Given the description of an element on the screen output the (x, y) to click on. 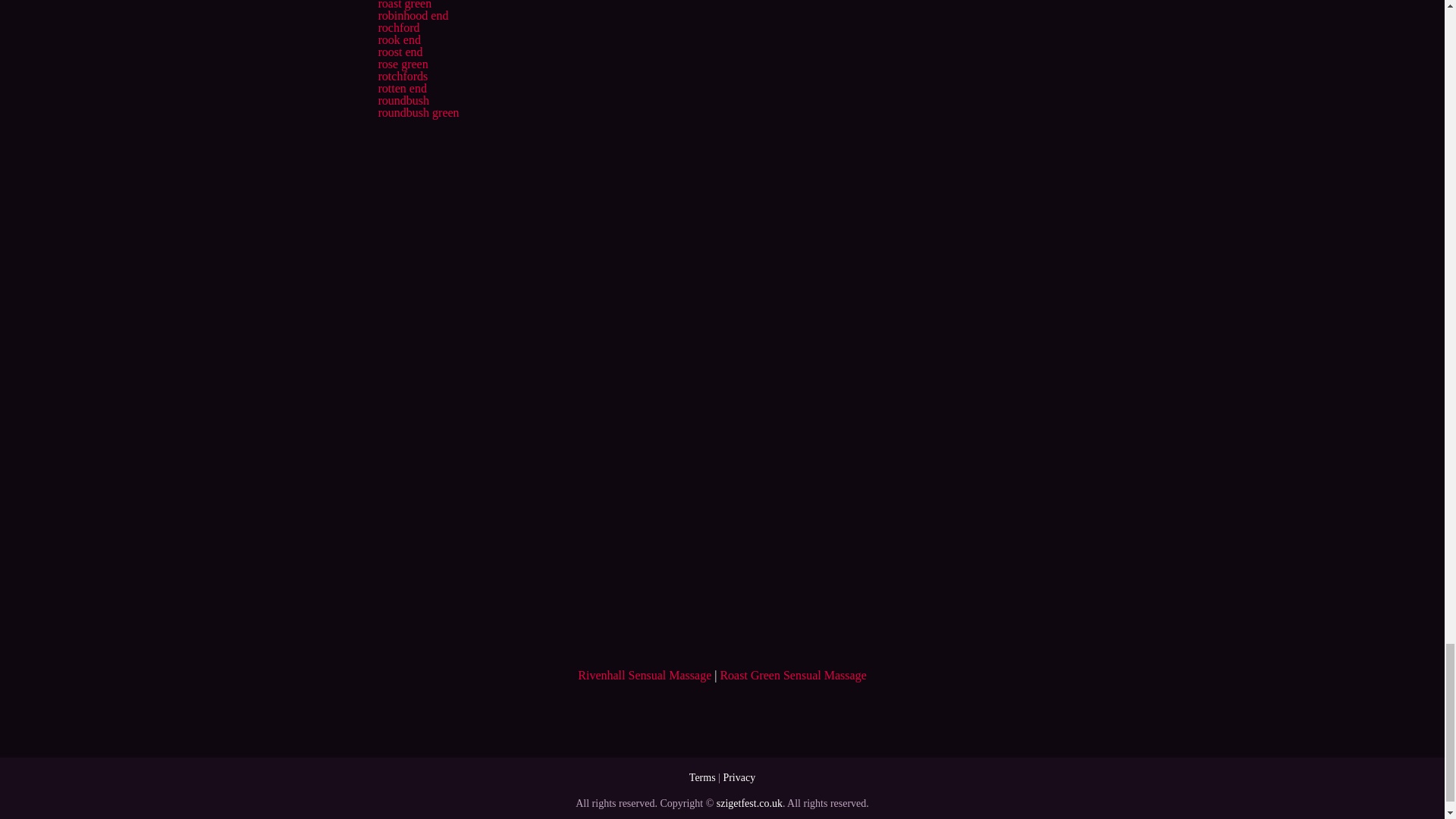
rook end (398, 39)
Terms (702, 777)
rochford (398, 27)
Rivenhall Sensual Massage (644, 675)
Privacy (738, 777)
szigetfest.co.uk (749, 803)
rotchfords (402, 75)
Roast Green Sensual Massage (792, 675)
roundbush green (417, 112)
roost end (399, 51)
